Given the description of an element on the screen output the (x, y) to click on. 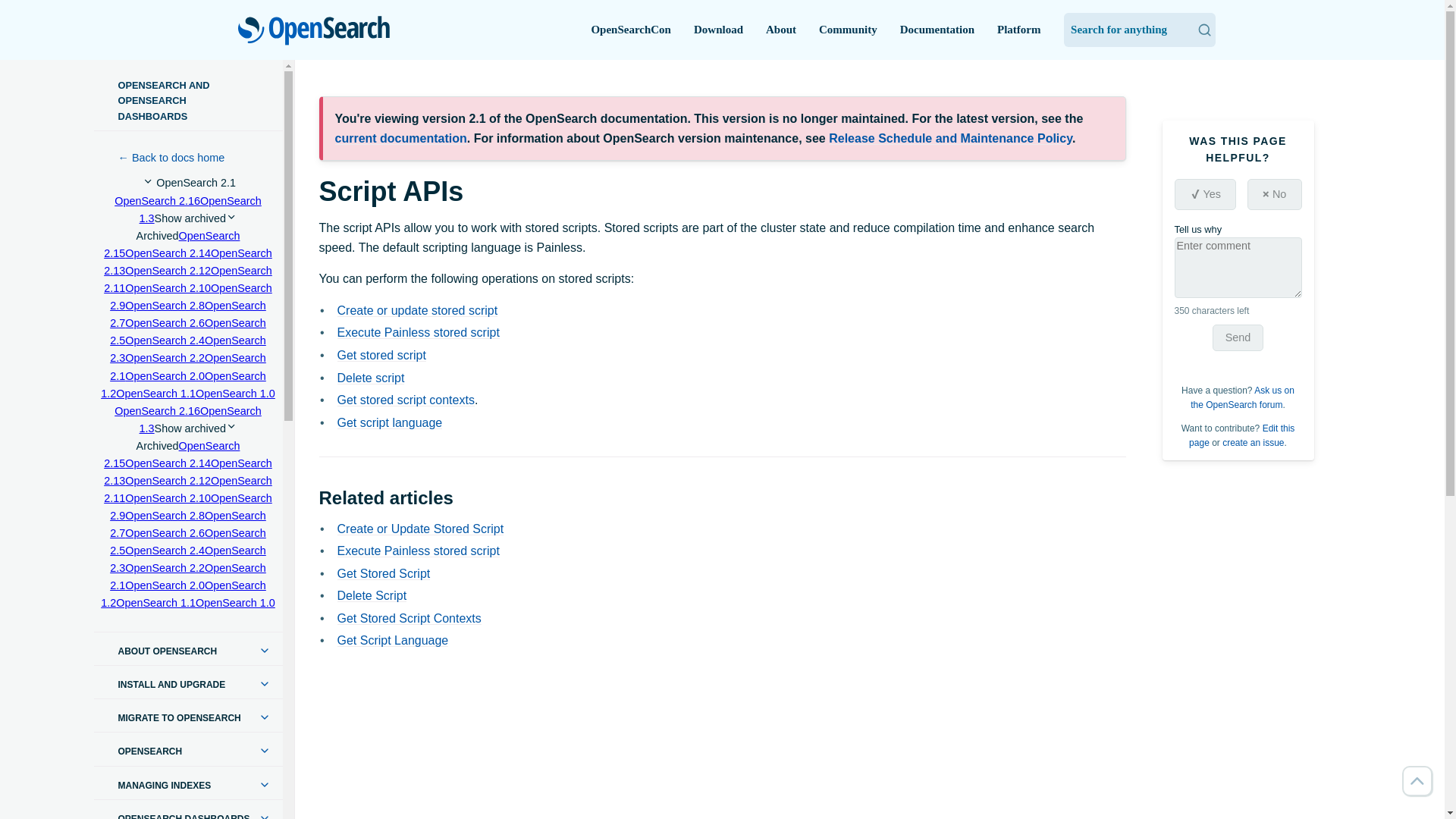
Documentation (936, 29)
Download (718, 29)
OpenSearchCon (631, 29)
Community (847, 29)
Platform (1019, 29)
OpenSearch (314, 31)
About (780, 29)
